Given the description of an element on the screen output the (x, y) to click on. 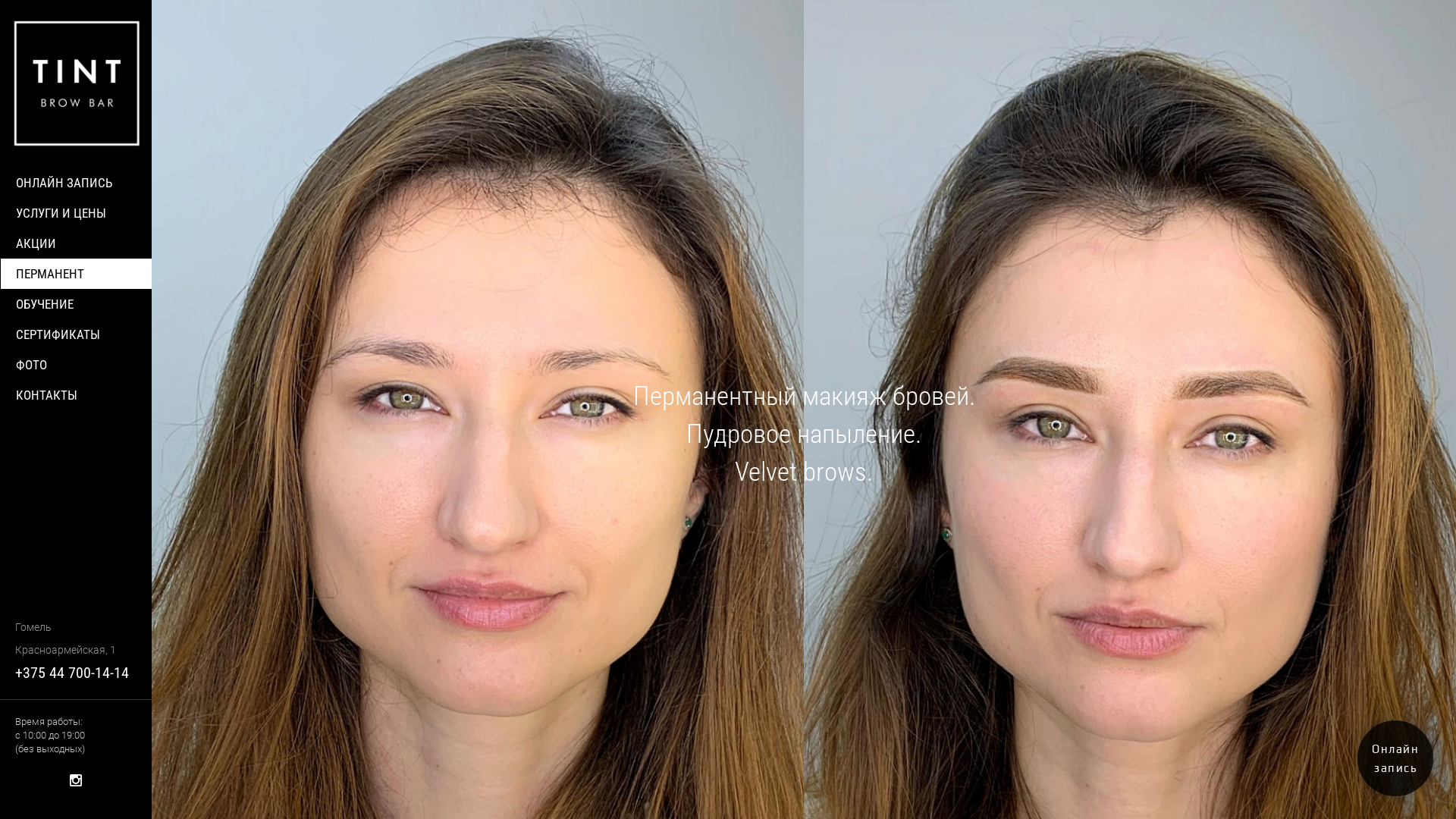
+375 44 700-14-14 Element type: text (71, 672)
